Given the description of an element on the screen output the (x, y) to click on. 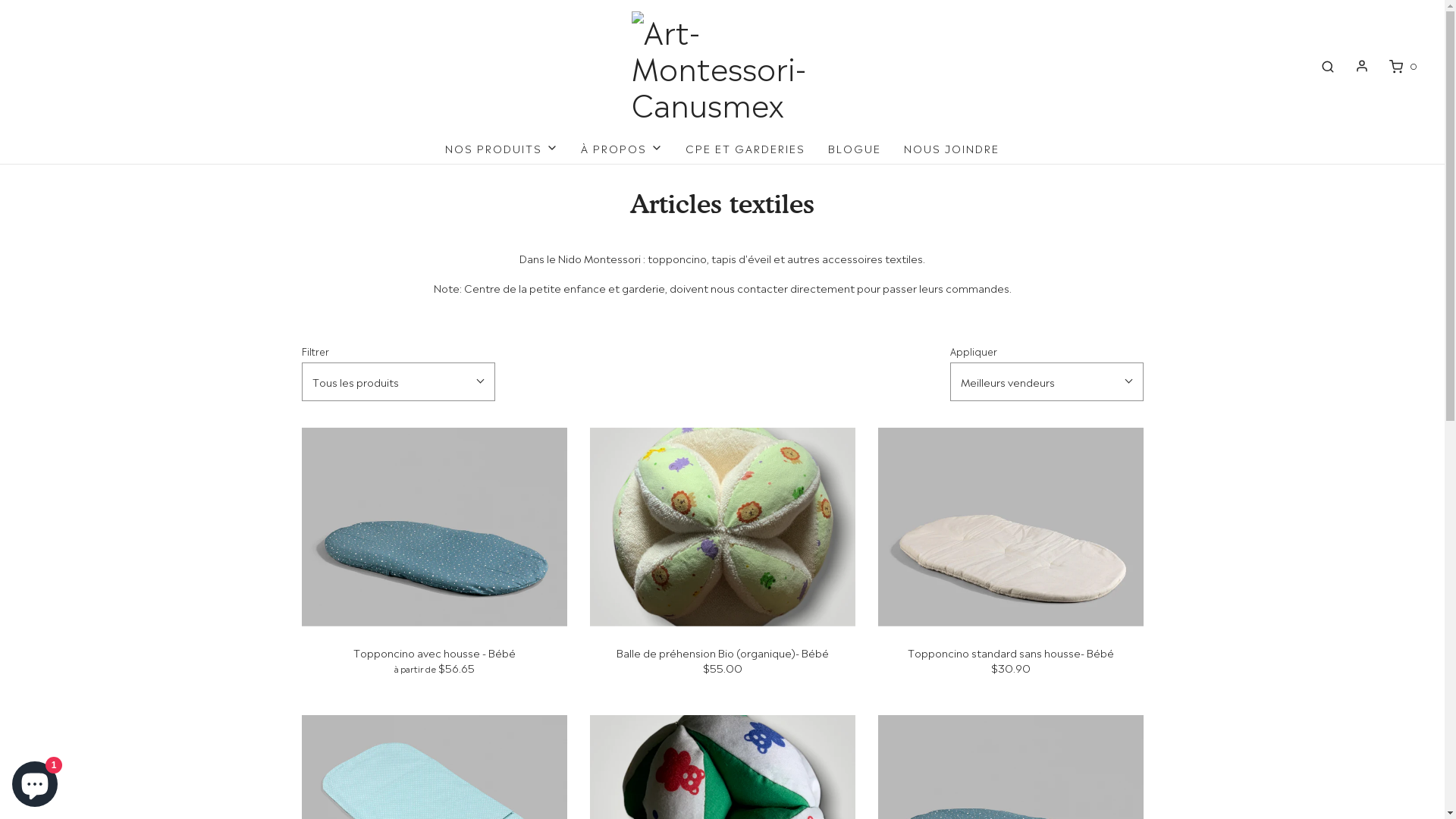
0 Element type: text (1401, 66)
S'identifier Element type: hover (1361, 65)
NOS PRODUITS Element type: text (501, 147)
Tous les produits Element type: text (398, 381)
Recherche Element type: hover (1327, 66)
CPE ET GARDERIES Element type: text (745, 147)
Chat de la boutique en ligne Shopify Element type: hover (34, 780)
NOUS JOINDRE Element type: text (951, 147)
Meilleurs vendeurs Element type: text (1045, 381)
BLOGUE Element type: text (854, 147)
